Given the description of an element on the screen output the (x, y) to click on. 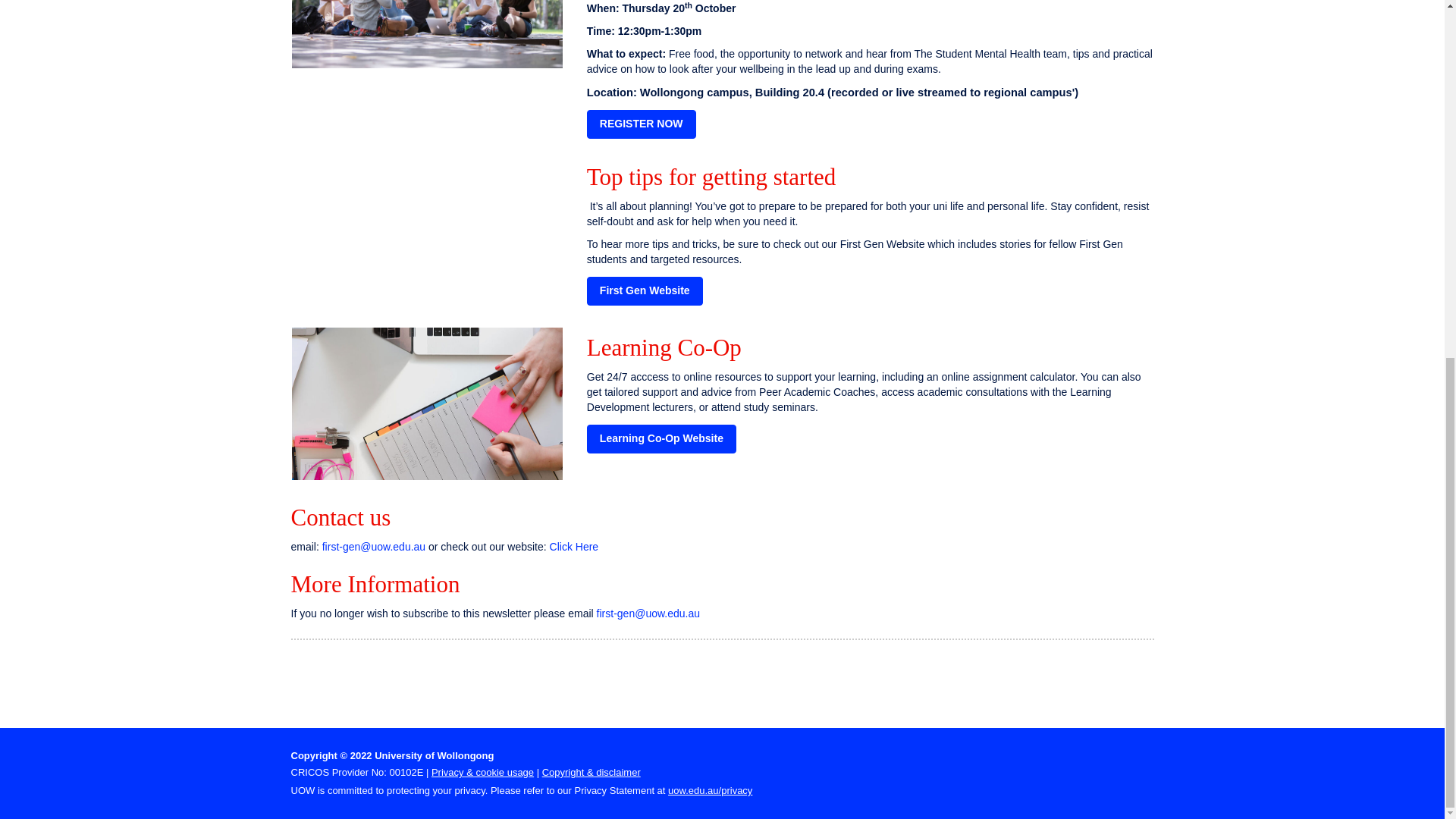
Click Here (574, 546)
Learning Co-Op Website (661, 439)
First Gen Website (644, 290)
REGISTER NOW (640, 123)
